Given the description of an element on the screen output the (x, y) to click on. 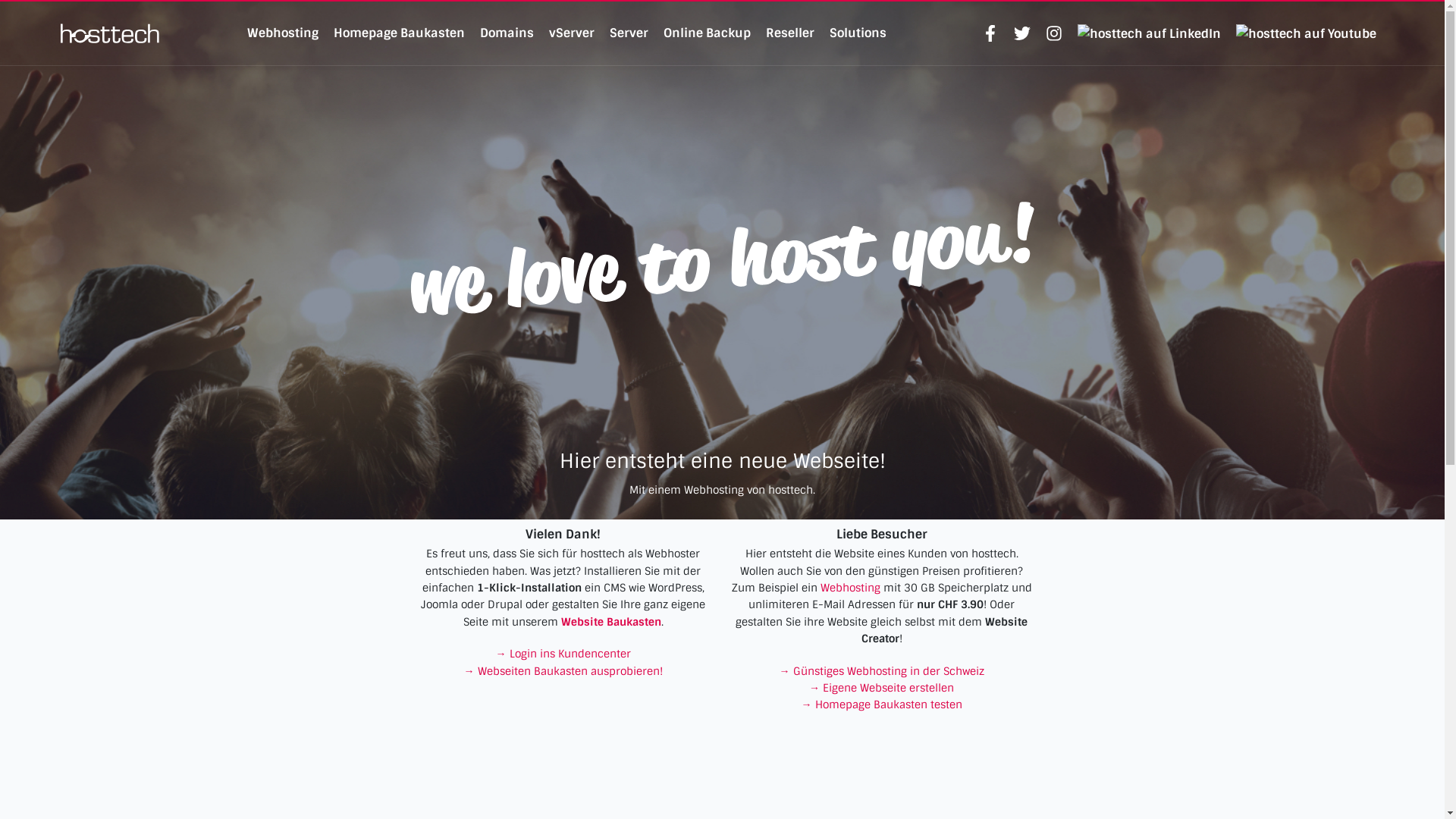
Server Element type: text (628, 32)
Webhosting Element type: text (282, 32)
Domains Element type: text (506, 32)
Website Baukasten Element type: text (611, 621)
Webhosting Element type: text (850, 587)
Online Backup Element type: text (706, 32)
Homepage Baukasten Element type: text (398, 32)
Reseller Element type: text (789, 32)
vServer Element type: text (571, 32)
Solutions Element type: text (857, 32)
